Given the description of an element on the screen output the (x, y) to click on. 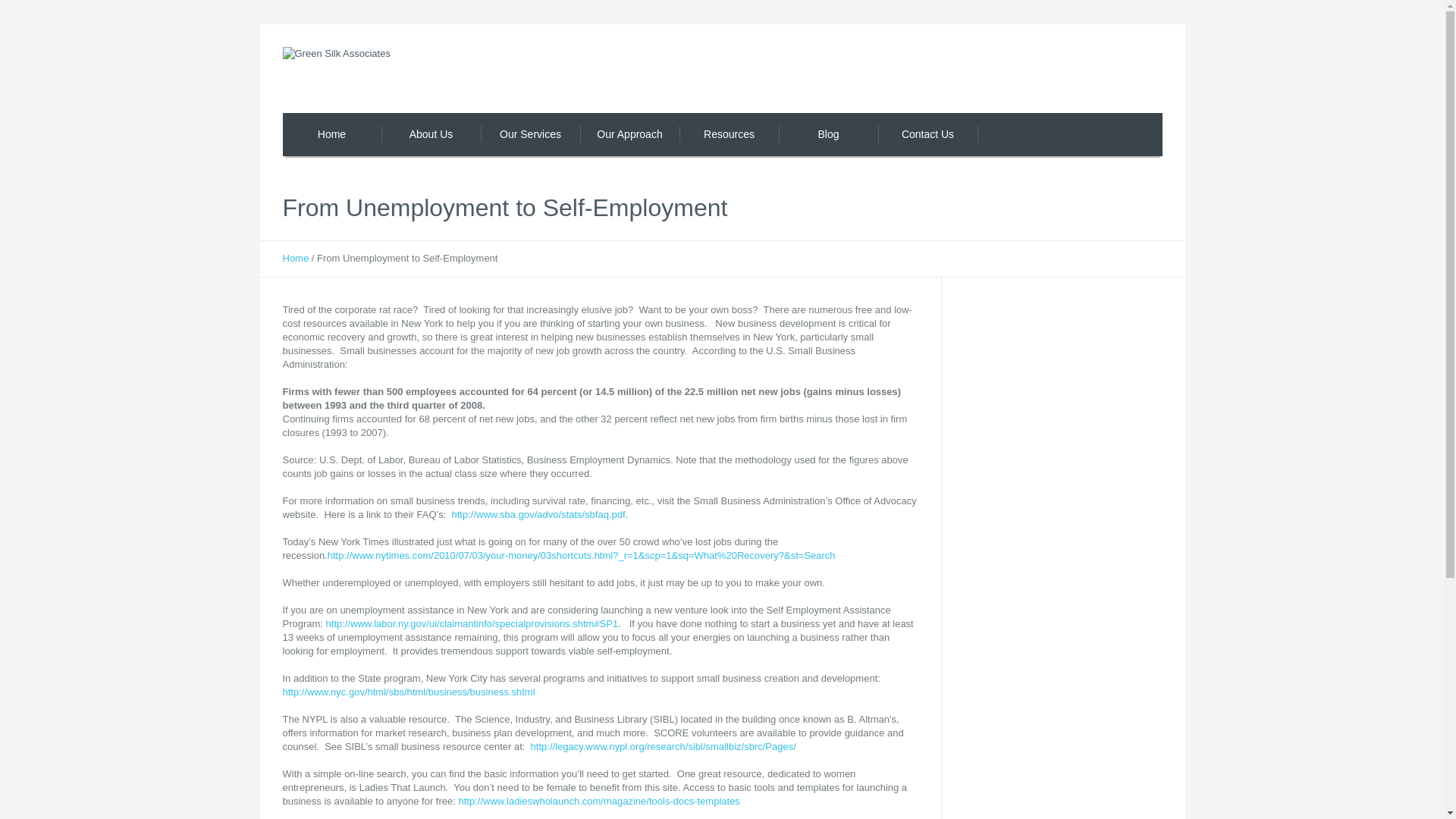
Green Silk Associates (452, 75)
Home (295, 257)
Blog (827, 134)
About Us (430, 134)
Home (331, 134)
Resources (728, 134)
Our Services (530, 134)
Contact Us (927, 134)
Our Approach (629, 134)
